Given the description of an element on the screen output the (x, y) to click on. 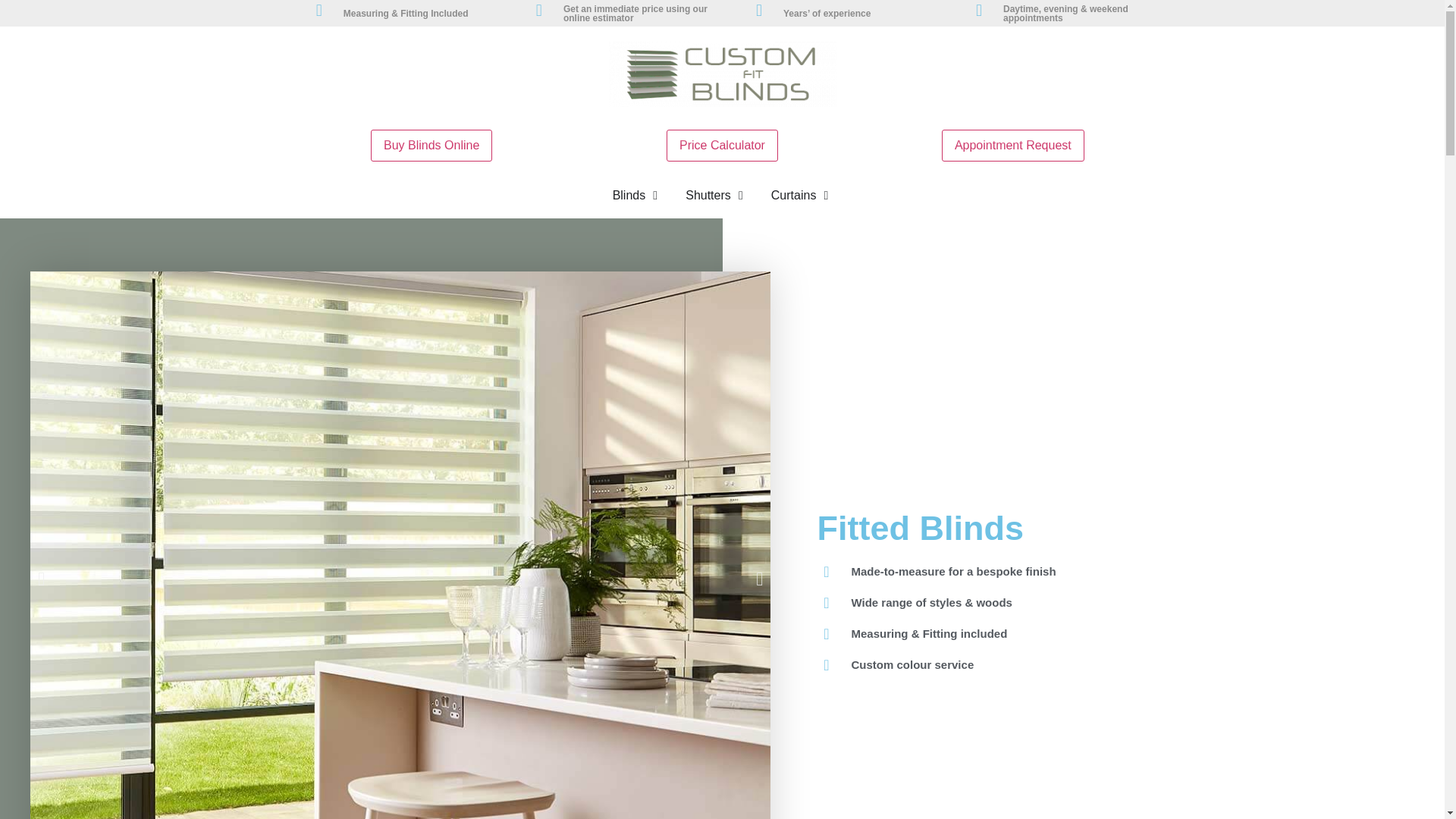
Appointment Request (1013, 145)
Price Calculator (721, 144)
Buy Blinds Online (431, 144)
Appointment Request (1013, 144)
Buy Blinds Online (431, 145)
Price Calculator (721, 145)
